Given the description of an element on the screen output the (x, y) to click on. 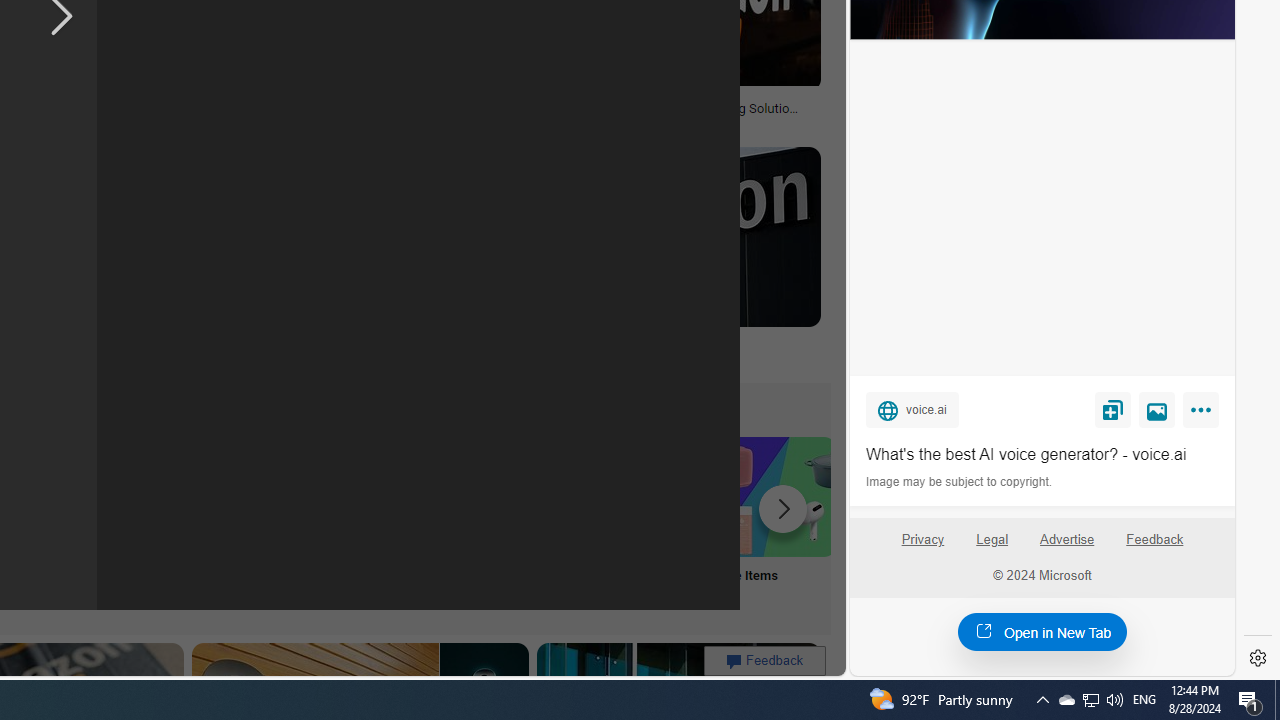
Amazon Visa Card Login (643, 496)
Online Shopping Homepage (248, 521)
Image result for amazon (662, 236)
Amazon (662, 343)
Feedback (1155, 539)
Amazon Online Shopping Homepage (248, 496)
More (1204, 413)
vecteezy.com (317, 121)
Image result for amazon (662, 236)
Amazon Visa Card Login Visa Card Login (643, 521)
mobilemarketingmagazine.com (574, 121)
vecteezy.com (371, 123)
Amazon Prime Label Prime Label (511, 521)
